Given the description of an element on the screen output the (x, y) to click on. 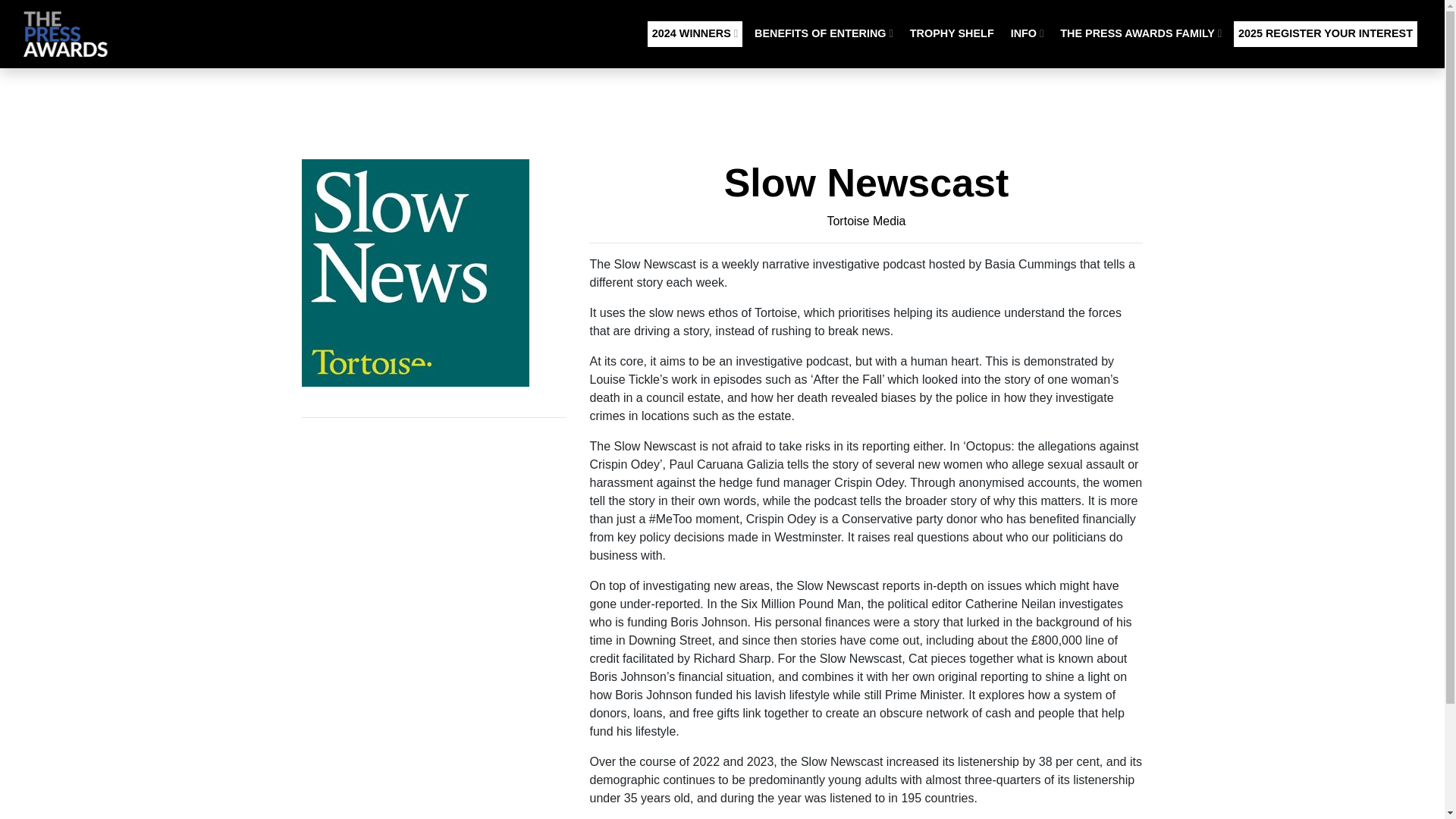
2025 REGISTER YOUR INTEREST (1324, 33)
2024 WINNERS (694, 33)
THE PRESS AWARDS FAMILY (1140, 33)
INFO (1027, 33)
TROPHY SHELF (951, 33)
BENEFITS OF ENTERING (823, 33)
BENEFITS OF ENTERING (823, 33)
2025 REGISTER YOUR INTEREST (1324, 33)
INFO (1027, 33)
2024 WINNERS (694, 33)
TROPHY SHELF (951, 33)
THE PRESS AWARDS FAMILY (1140, 33)
